Given the description of an element on the screen output the (x, y) to click on. 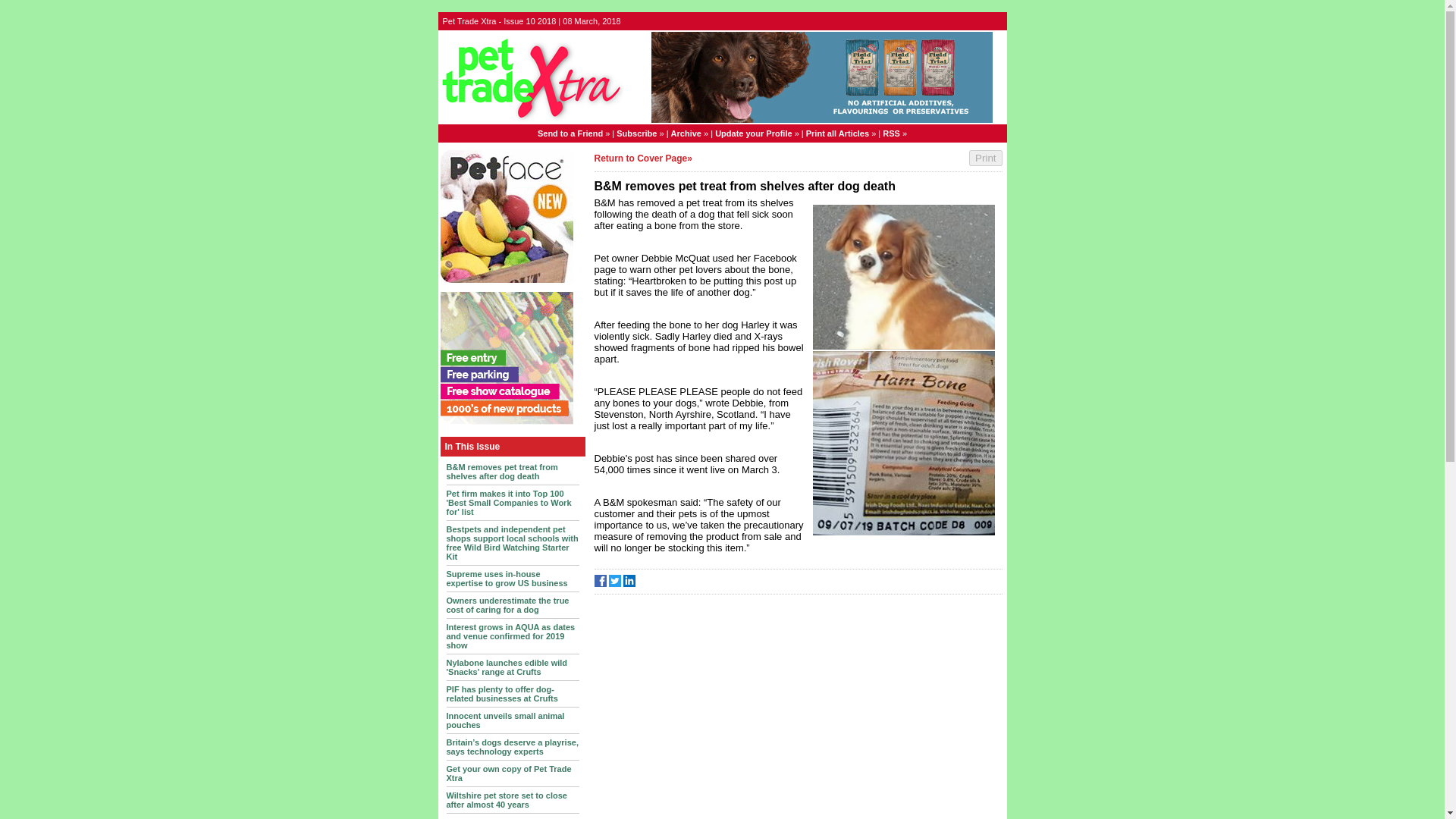
Print (985, 157)
PIF has plenty to offer dog-related businesses at Crufts (501, 692)
RSS (890, 133)
Wiltshire pet store set to close after almost 40 years (505, 799)
Print all Articles (837, 133)
Send to a Friend (569, 133)
Get your own copy of Pet Trade Xtra (507, 773)
Nylabone launches edible wild 'Snacks' range at Crufts (506, 667)
Update your Profile (753, 133)
Innocent unveils small animal pouches (504, 720)
Supreme uses in-house expertise to grow US business (506, 577)
Owners underestimate the true cost of caring for a dog (507, 605)
